Given the description of an element on the screen output the (x, y) to click on. 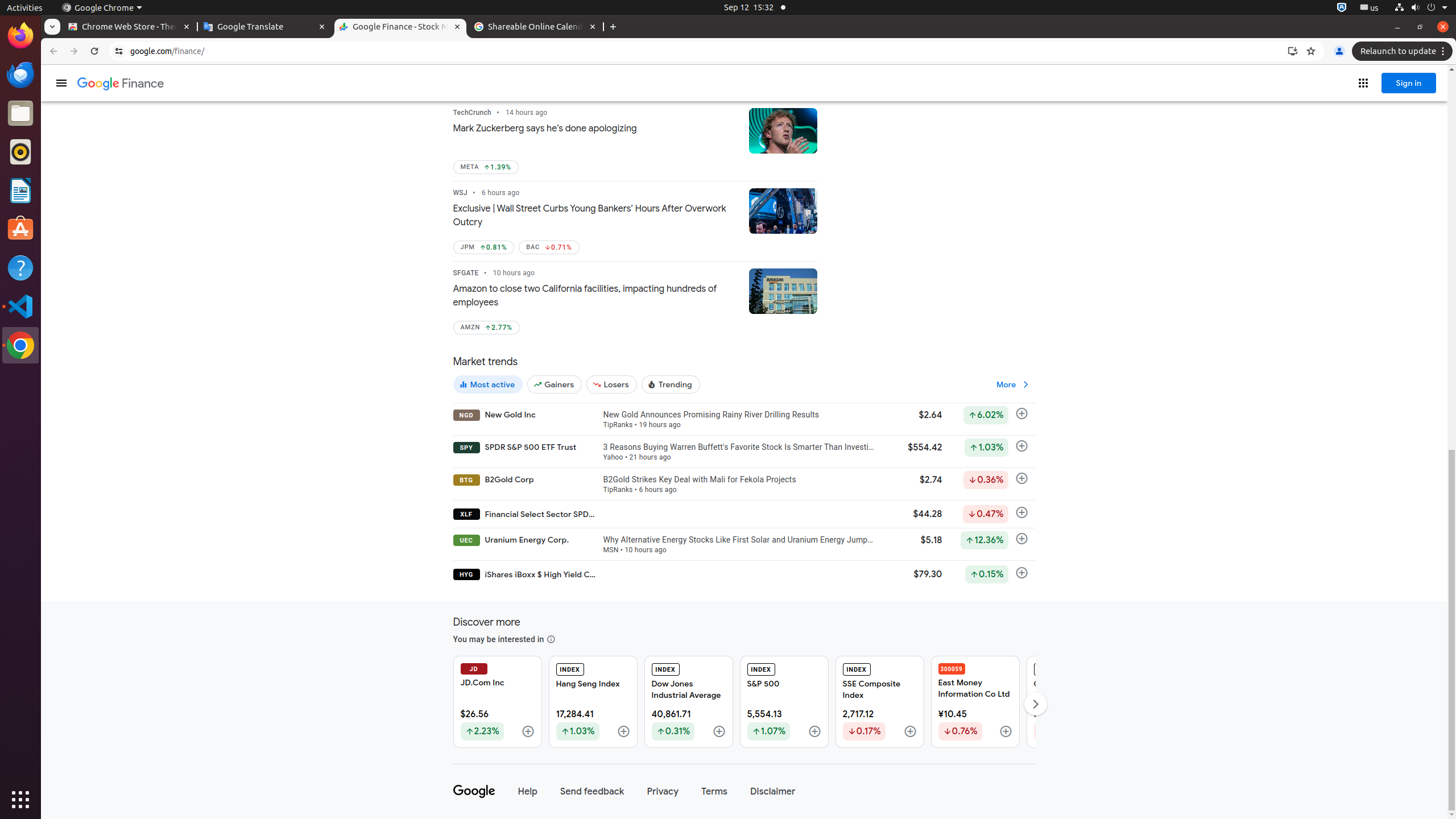
INDEX Dow Jones Industrial Average 40,861.71 Up by 0.31% Element type: link (688, 701)
Google Chrome Element type: menu (101, 7)
LibreOffice Writer Element type: push-button (20, 190)
Losers Element type: page-tab (611, 384)
Bloomberg.com •  11 hours ago OpenAI Fundraising Set to Vault Startup’s Valuation to $150 Billion Element type: link (595, 59)
